Given the description of an element on the screen output the (x, y) to click on. 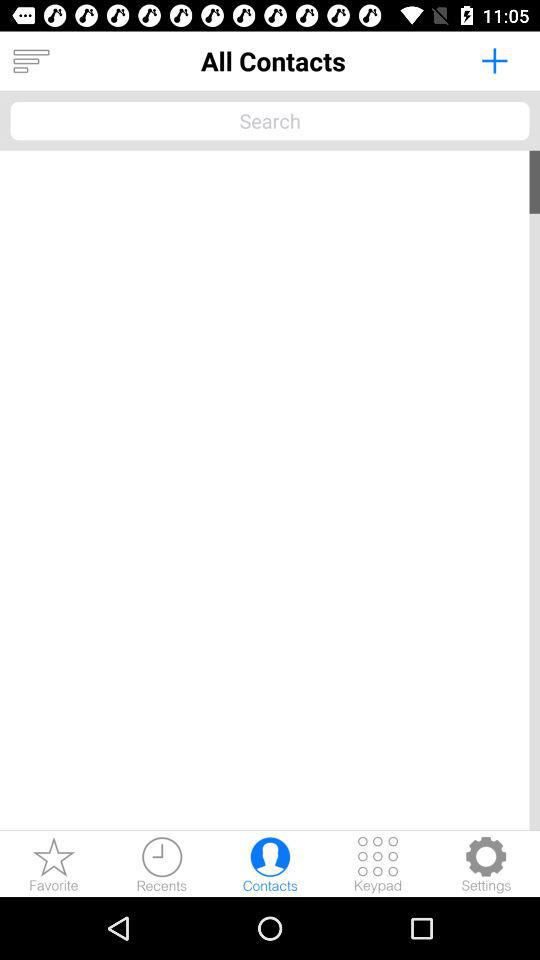
launch app to the right of all contacts (494, 60)
